Given the description of an element on the screen output the (x, y) to click on. 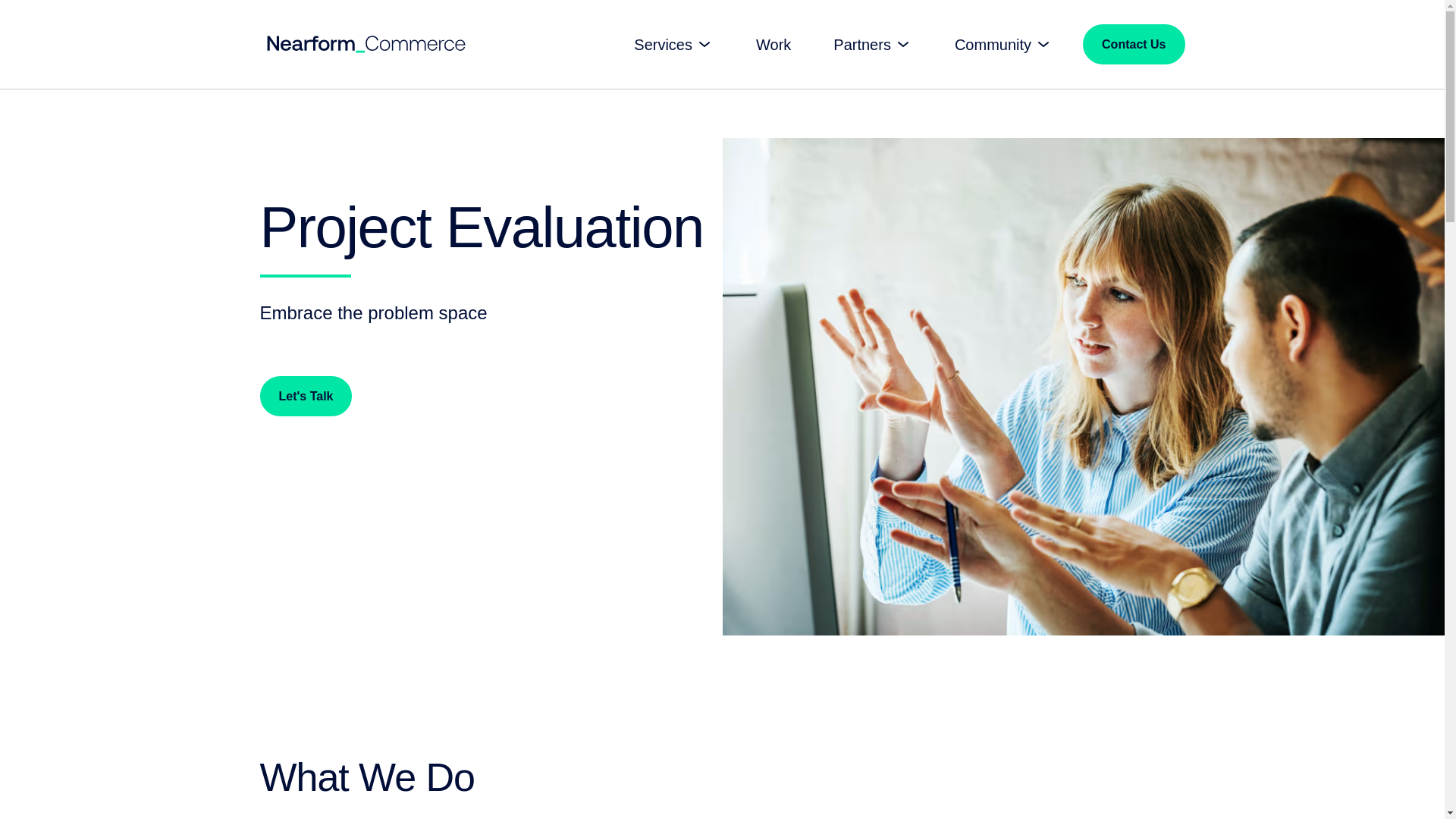
Work (772, 44)
Contact Us (1134, 44)
Partners (872, 44)
Community (1003, 44)
Services (673, 44)
NearForm Commerce (365, 44)
Let's Talk (305, 395)
